Given the description of an element on the screen output the (x, y) to click on. 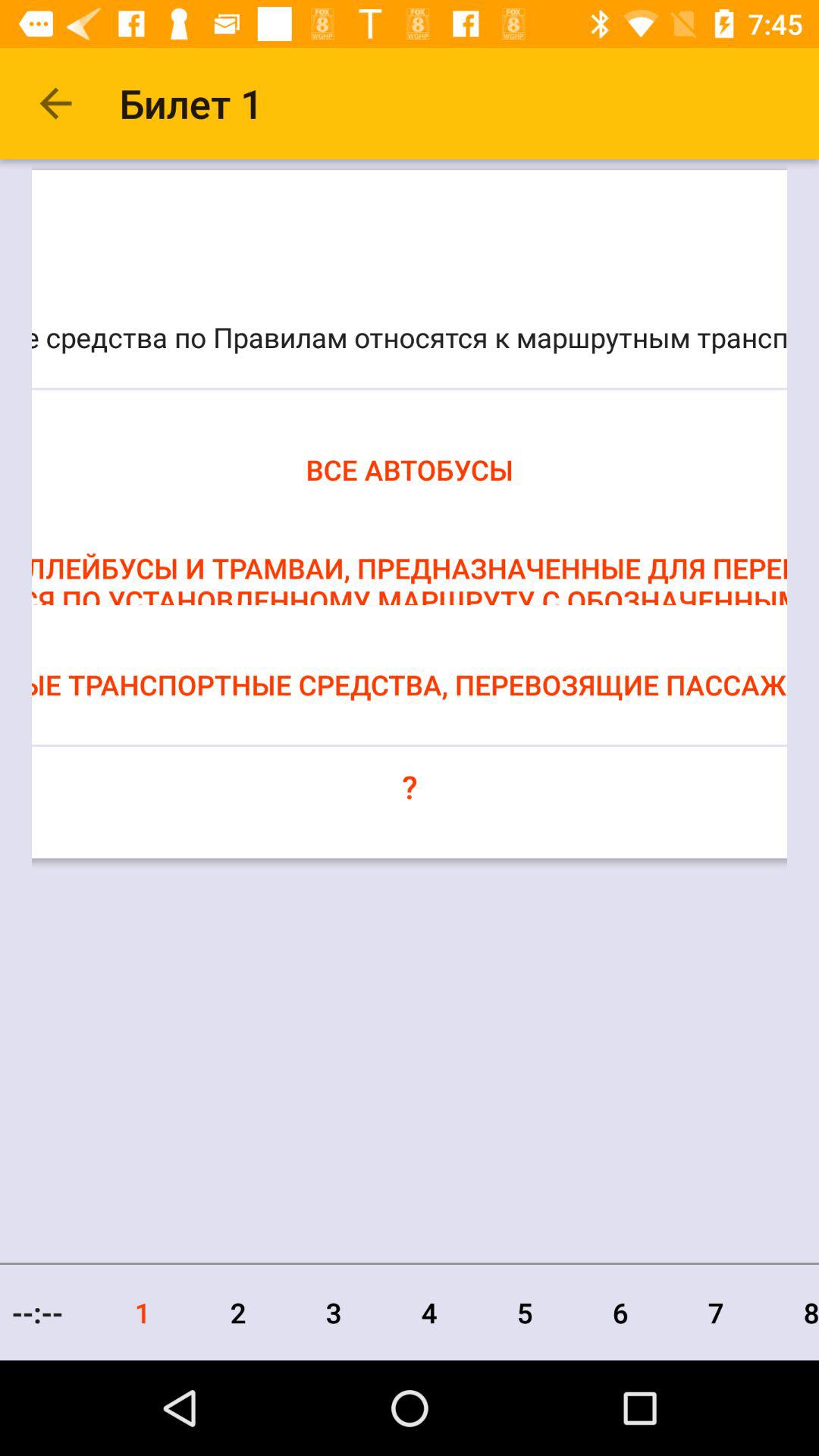
tap the icon next to 6 item (524, 1312)
